Given the description of an element on the screen output the (x, y) to click on. 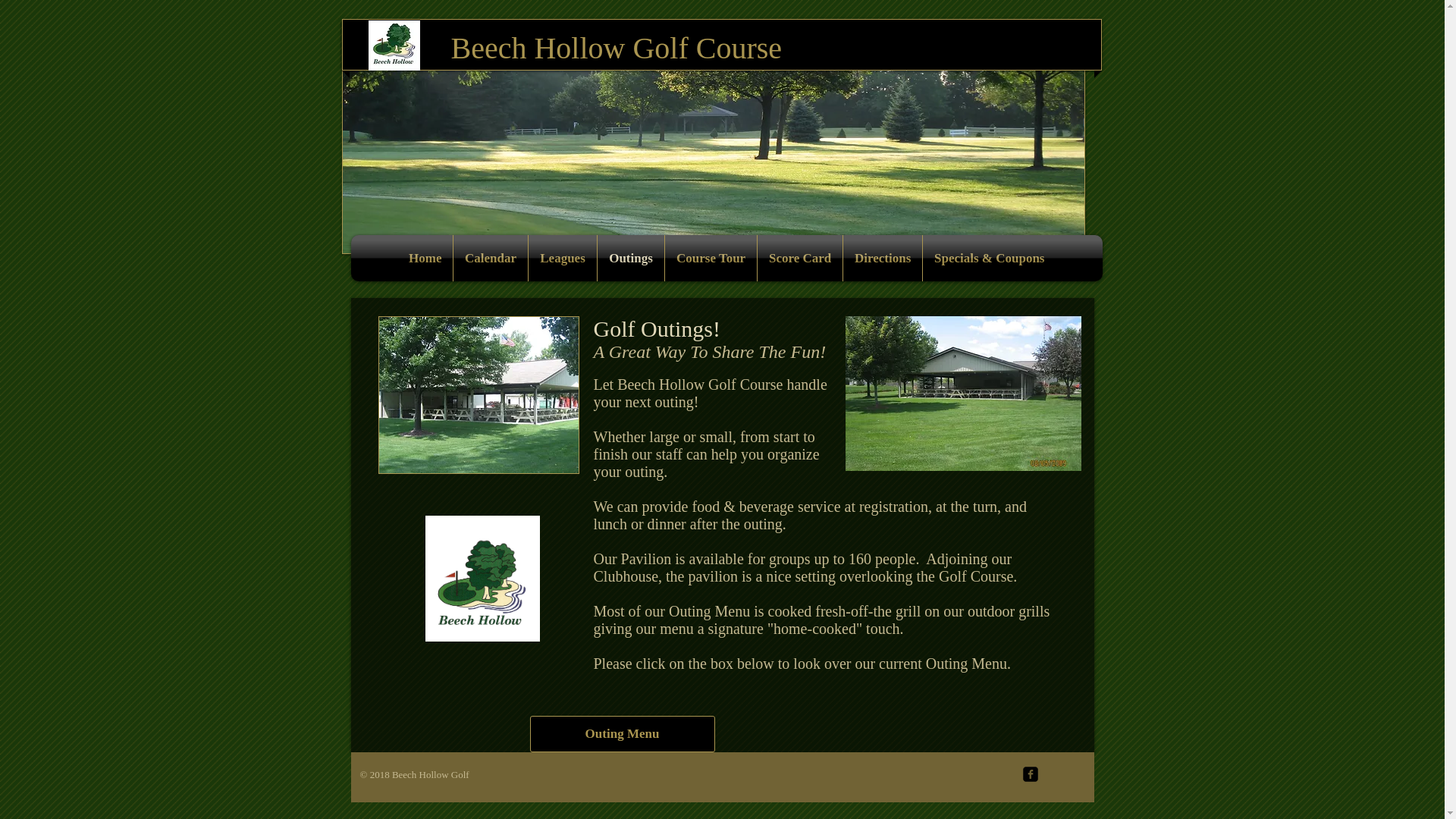
Score Card (800, 258)
Calendar (489, 258)
Course Tour (711, 258)
Home (424, 258)
Outings (629, 258)
Leagues (562, 258)
Outing Menu (621, 733)
Directions (882, 258)
